Given the description of an element on the screen output the (x, y) to click on. 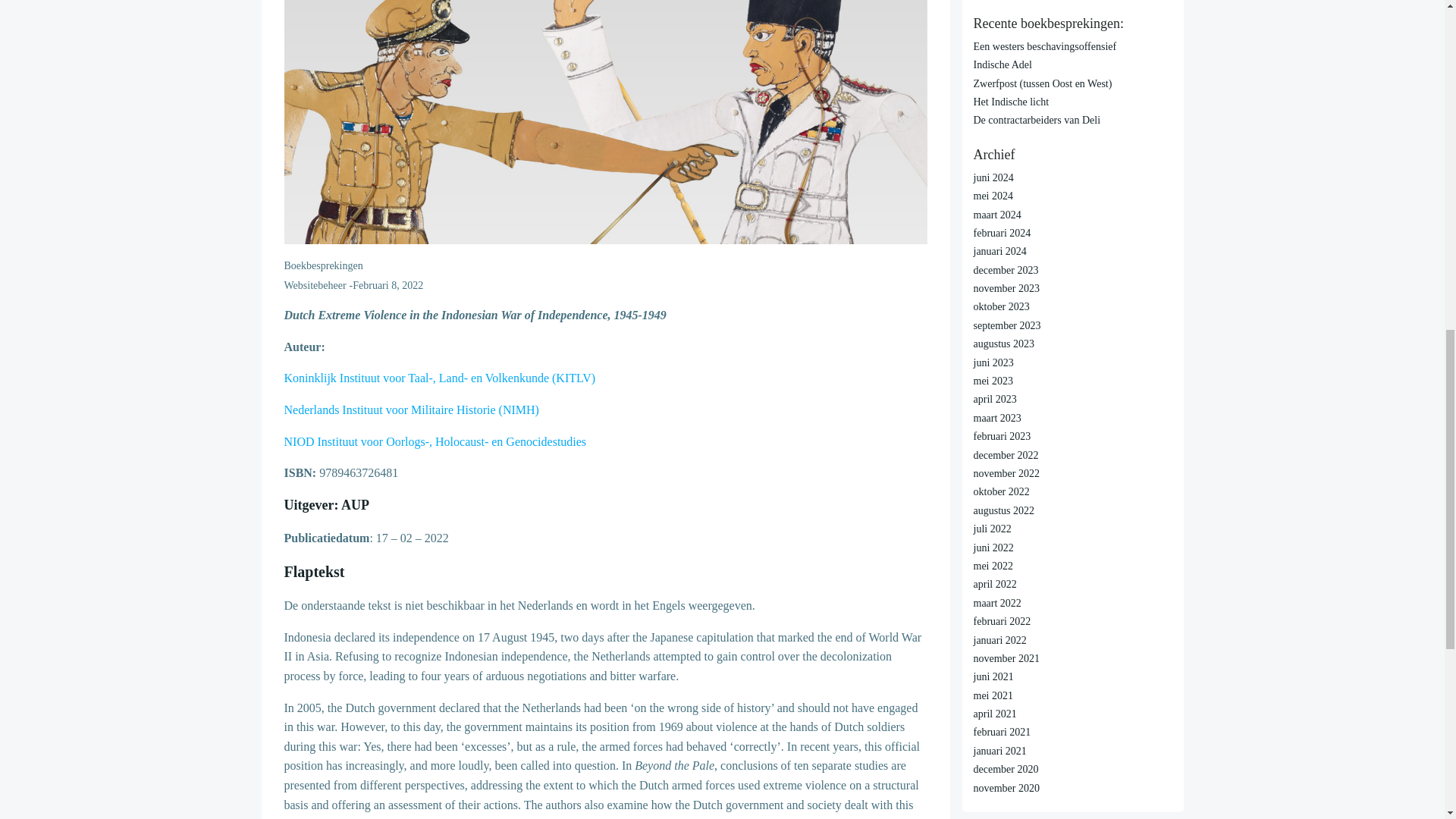
mei 2024 (993, 195)
maart 2024 (998, 214)
december 2023 (1006, 270)
augustus 2023 (1004, 343)
Indische Adel (1003, 64)
mei 2023 (993, 380)
februari 2023 (1002, 436)
december 2022 (1006, 455)
NIOD Instituut voor Oorlogs-, Holocaust- en Genocidestudies (434, 440)
november 2023 (1006, 288)
september 2023 (1007, 325)
Een westers beschavingsoffensief (1045, 46)
Boekbesprekingen (322, 265)
oktober 2023 (1001, 306)
januari 2024 (1000, 251)
